Given the description of an element on the screen output the (x, y) to click on. 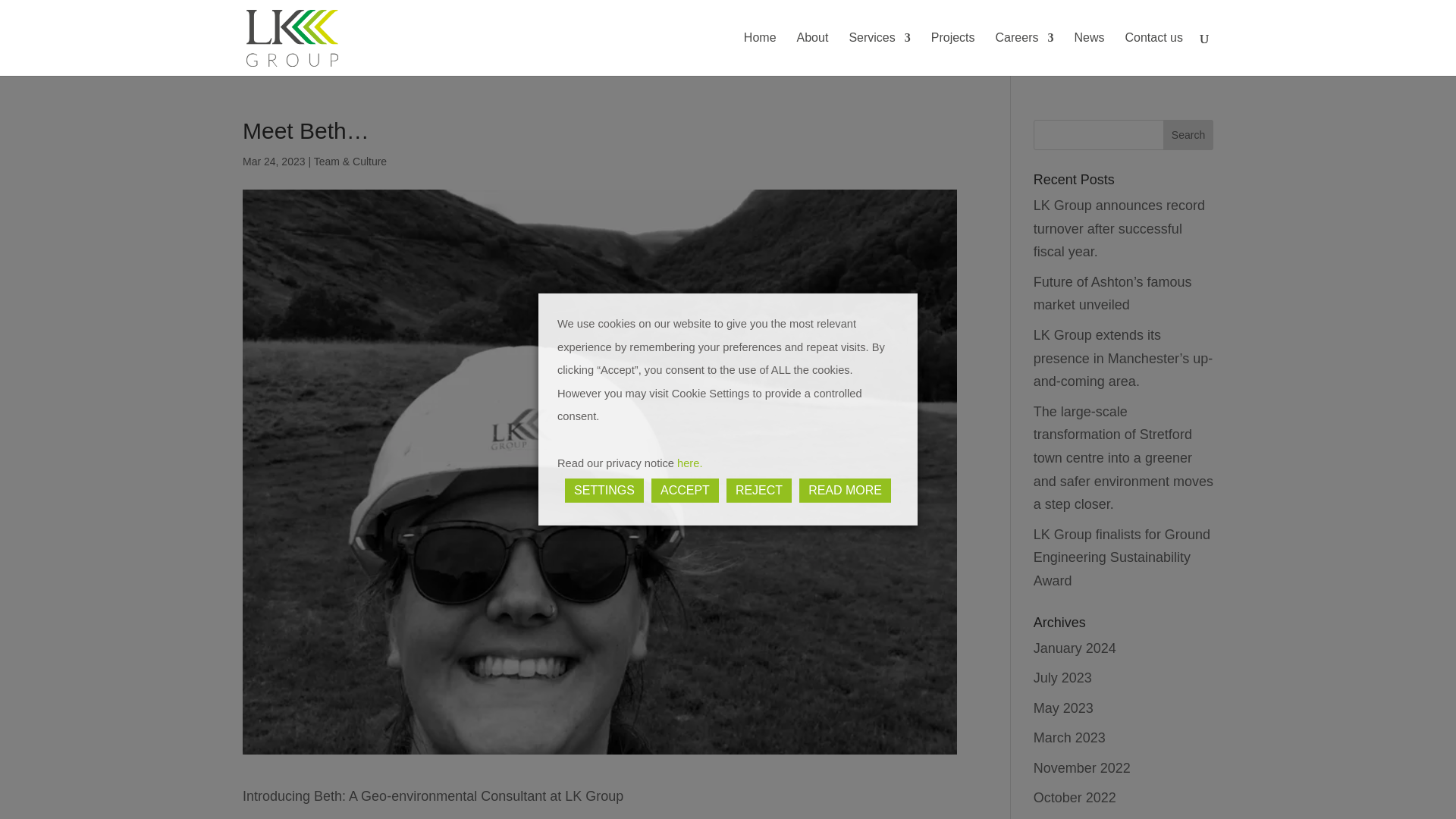
Services (879, 54)
Contact us (1153, 54)
Careers (1024, 54)
Search (1187, 134)
Search (1187, 134)
Projects (953, 54)
